Given the description of an element on the screen output the (x, y) to click on. 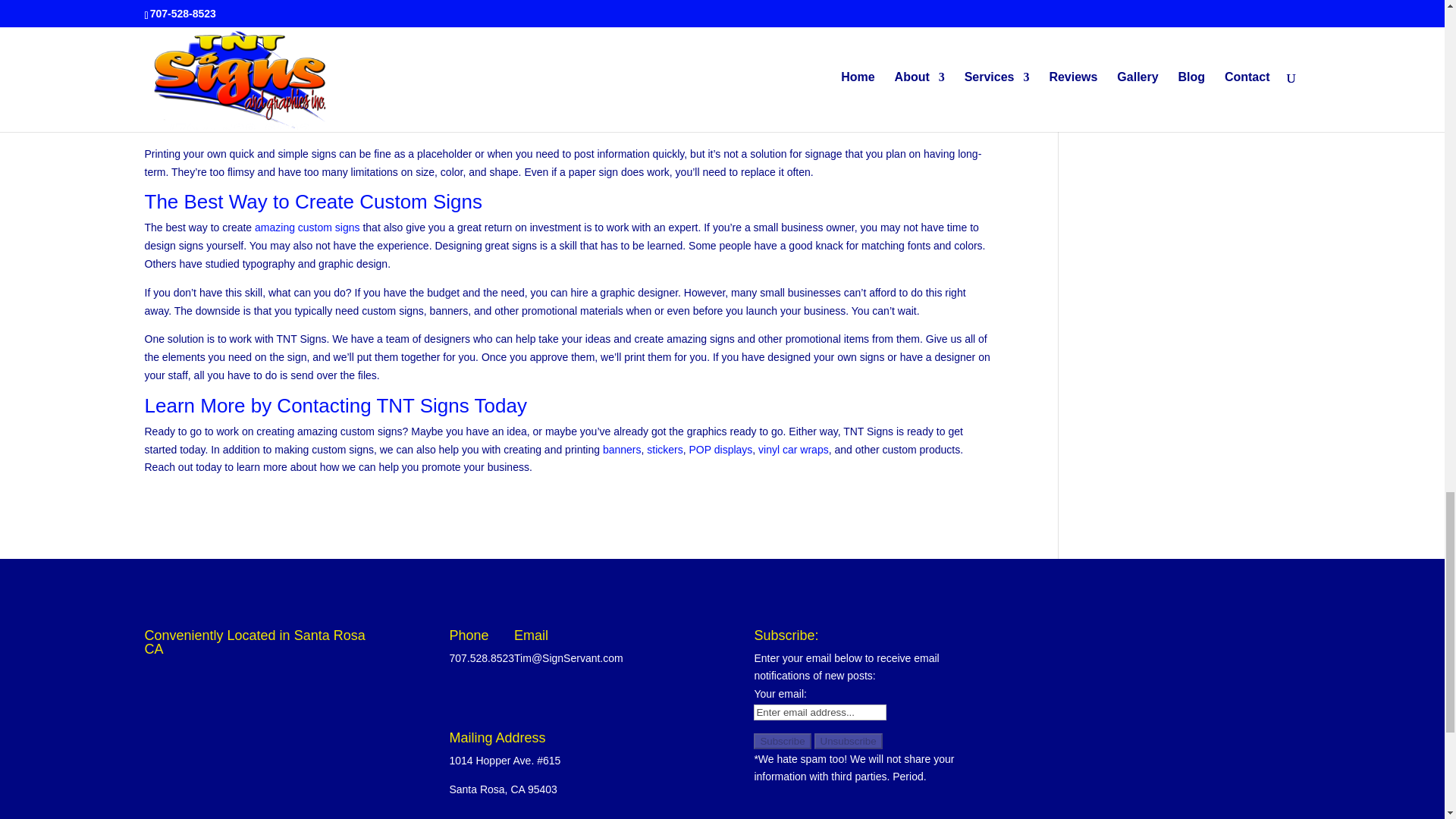
Unsubscribe (847, 741)
POP displays (720, 449)
amazing custom signs (306, 227)
banners (622, 449)
vinyl car wraps (793, 449)
stickers (664, 449)
Enter email address... (820, 712)
Subscribe (782, 741)
